Given the description of an element on the screen output the (x, y) to click on. 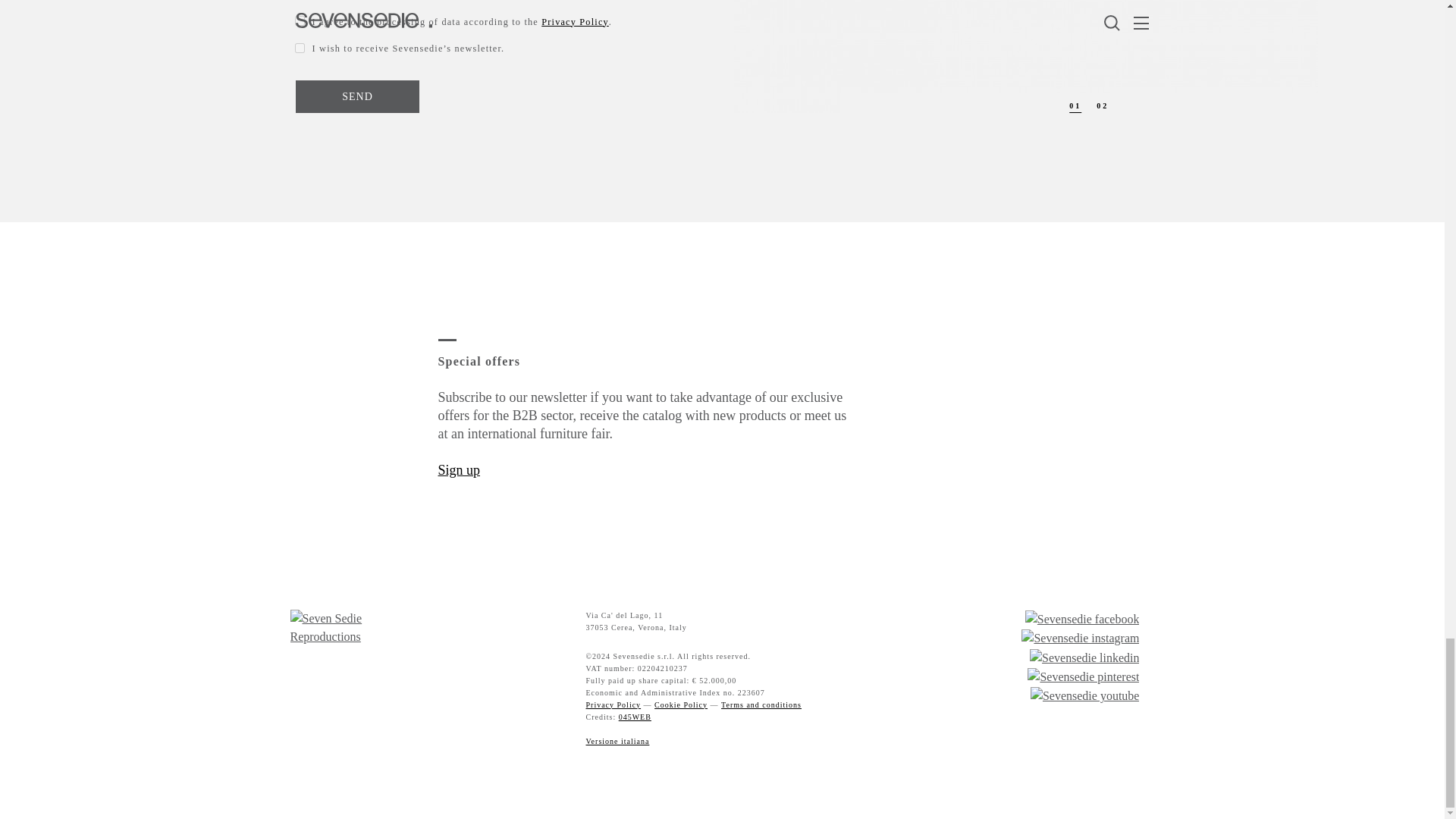
Privacy Policy (680, 705)
Privacy Policy (612, 705)
Privacy Policy (574, 21)
1 (299, 20)
on (299, 48)
